Given the description of an element on the screen output the (x, y) to click on. 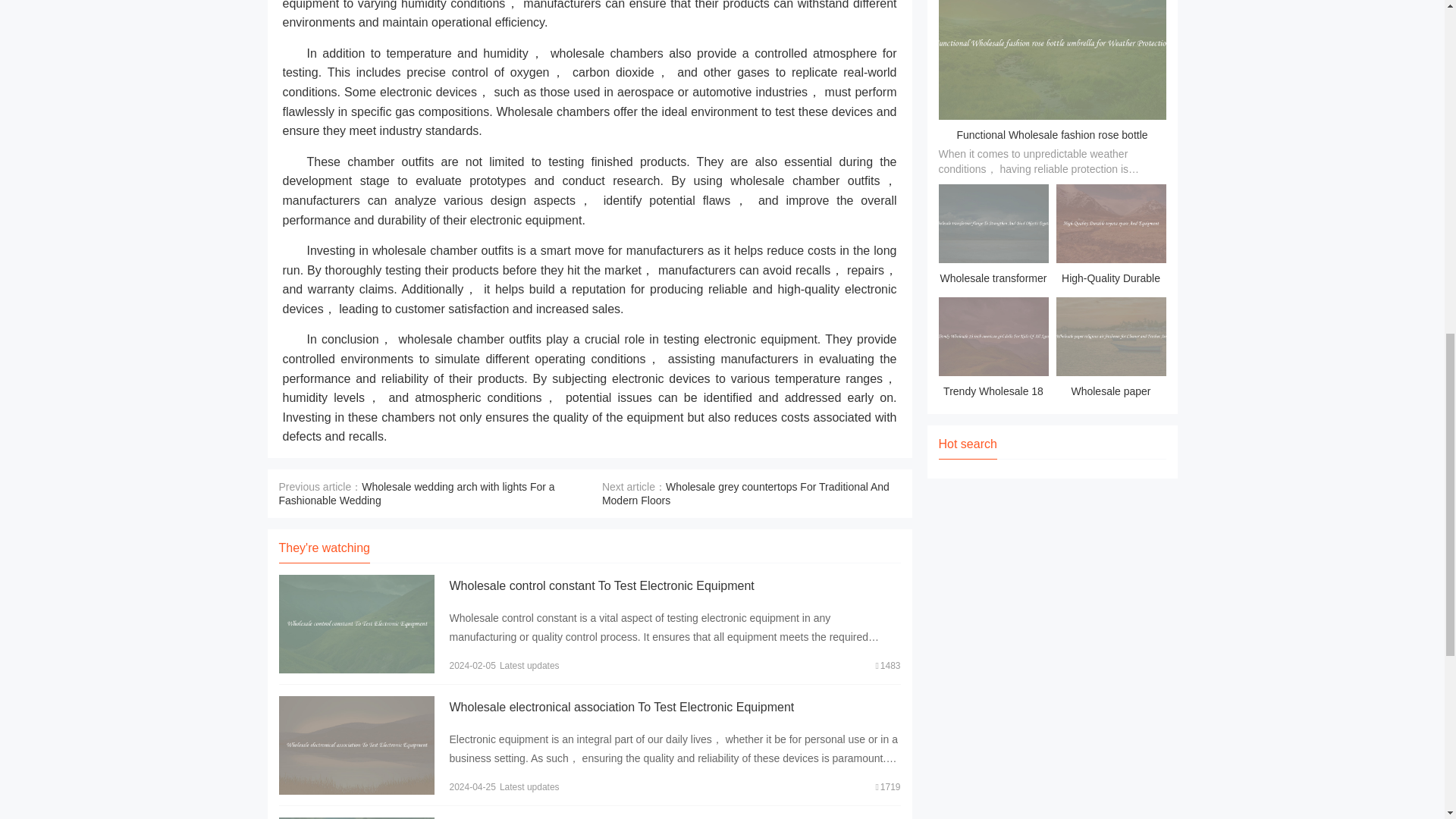
High-Quality Durable toyota spare And Equipment (1110, 236)
Wholesale control constant To Test Electronic Equipment (601, 585)
Wholesale grey countertops For Traditional And Modern Floors (745, 493)
Wholesale wedding arch with lights For a Fashionable Wedding (416, 493)
